Given the description of an element on the screen output the (x, y) to click on. 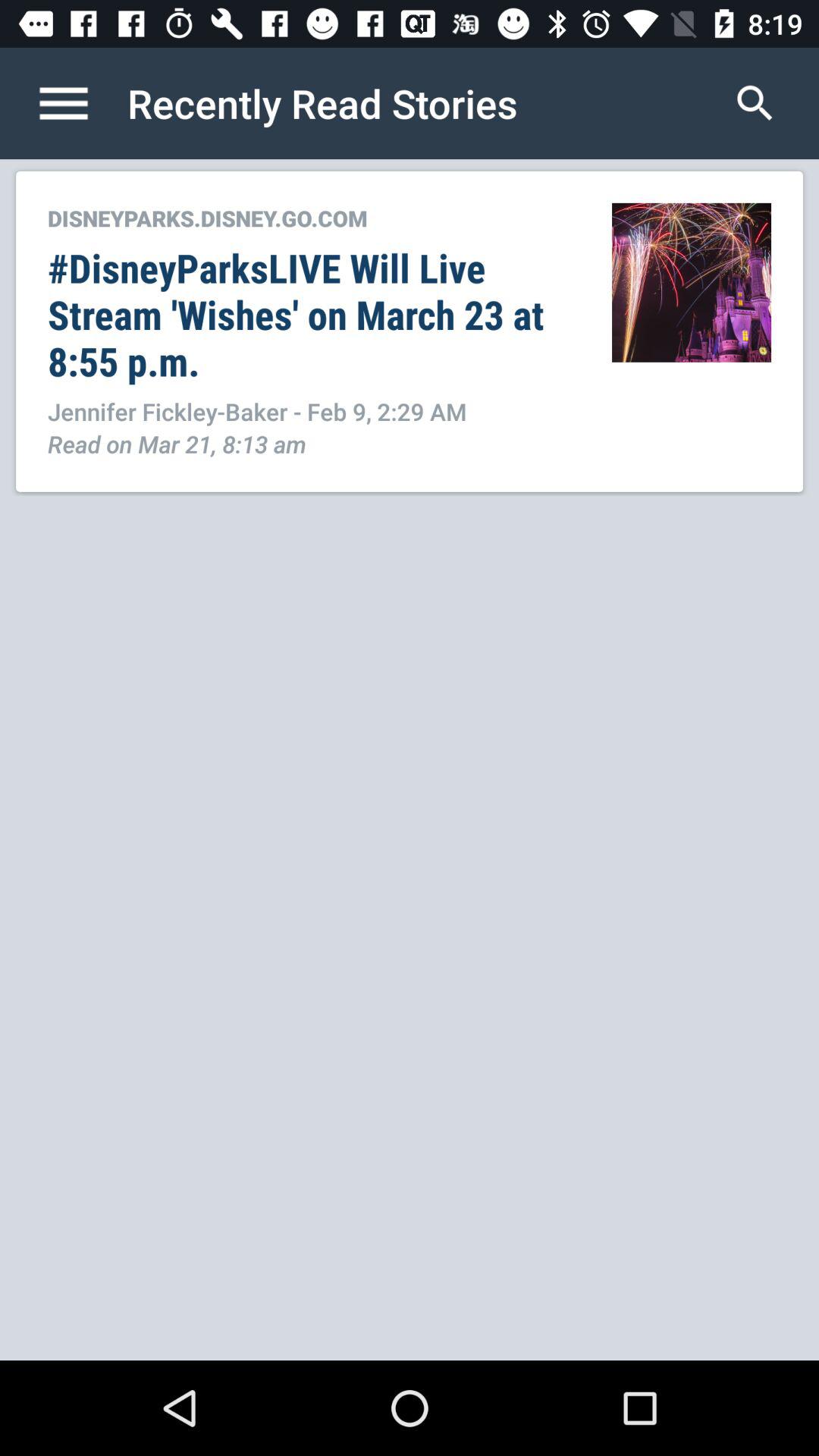
select the icon to the left of recently read stories item (79, 103)
